Given the description of an element on the screen output the (x, y) to click on. 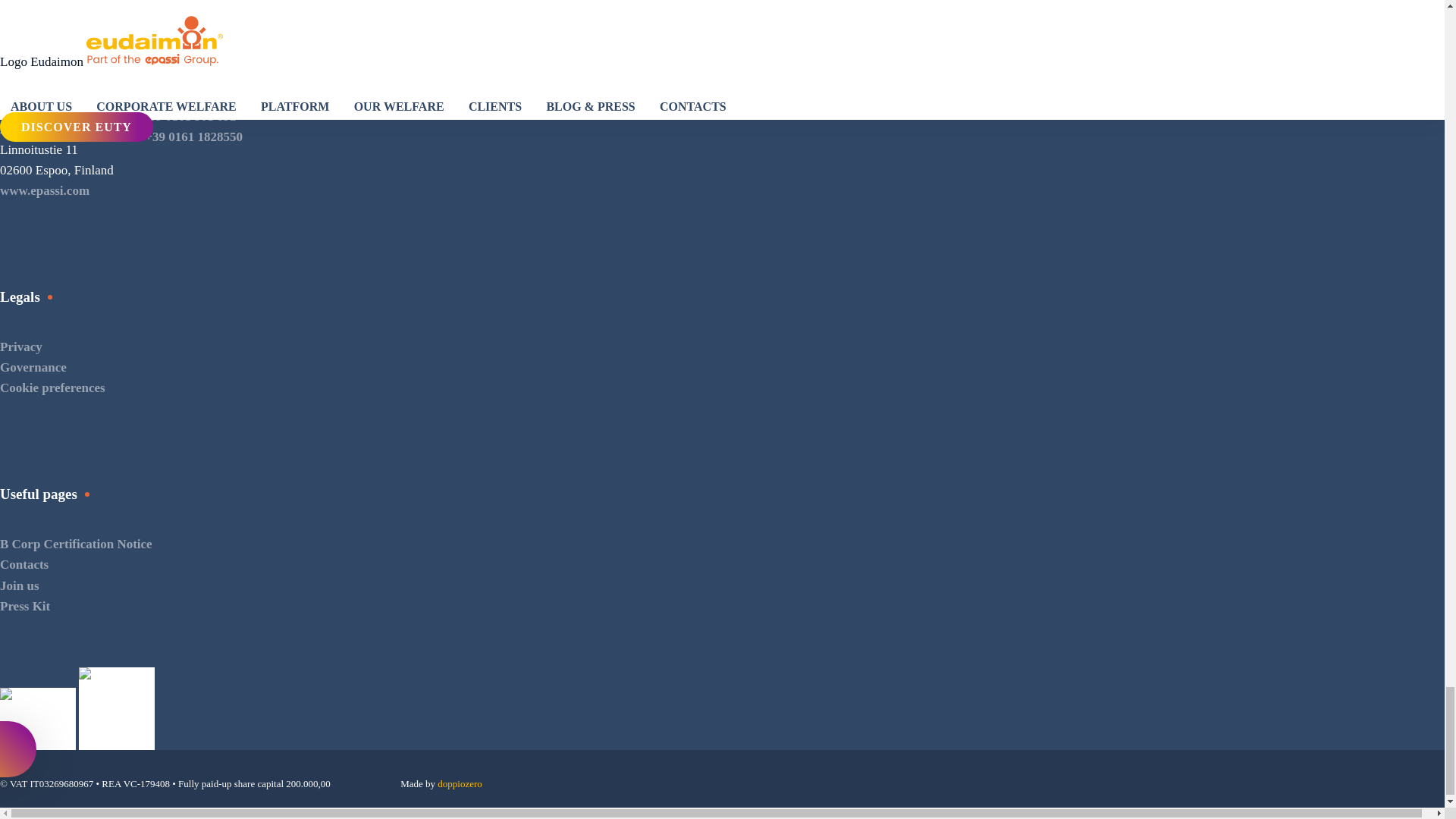
Cookie preferences (52, 387)
B Corp Certification Notice (76, 544)
www.epassi.com (44, 190)
Governance (33, 367)
Join us (19, 585)
Privacy (21, 346)
Contacts (24, 564)
